Given the description of an element on the screen output the (x, y) to click on. 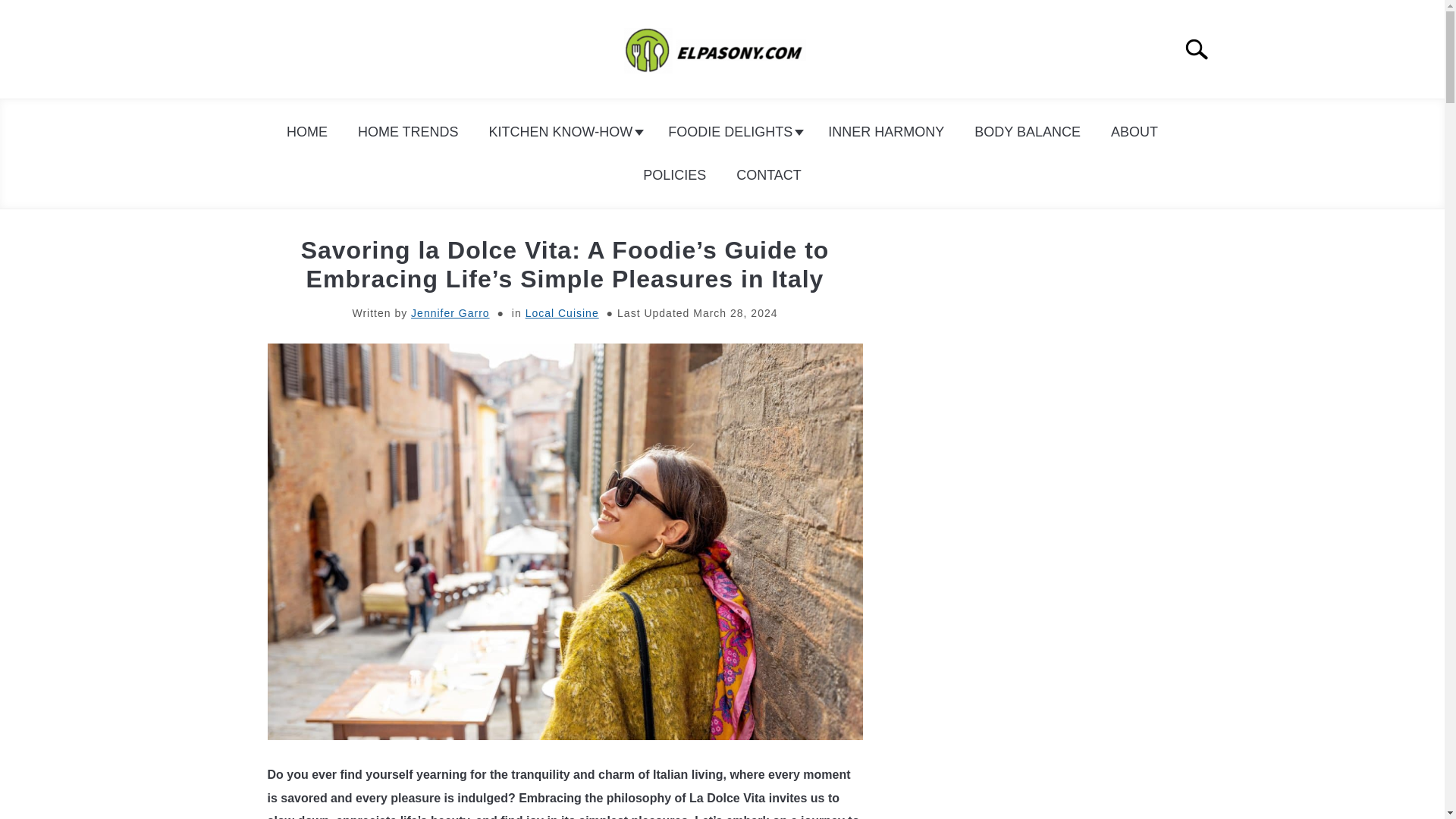
CONTACT (768, 175)
HOME (306, 131)
ABOUT (1134, 131)
Search (1203, 49)
BODY BALANCE (1027, 131)
FOODIE DELIGHTS (732, 131)
Jennifer Garro (449, 313)
HOME TRENDS (408, 131)
INNER HARMONY (885, 131)
KITCHEN KNOW-HOW (563, 131)
POLICIES (673, 175)
Local Cuisine (561, 313)
